Given the description of an element on the screen output the (x, y) to click on. 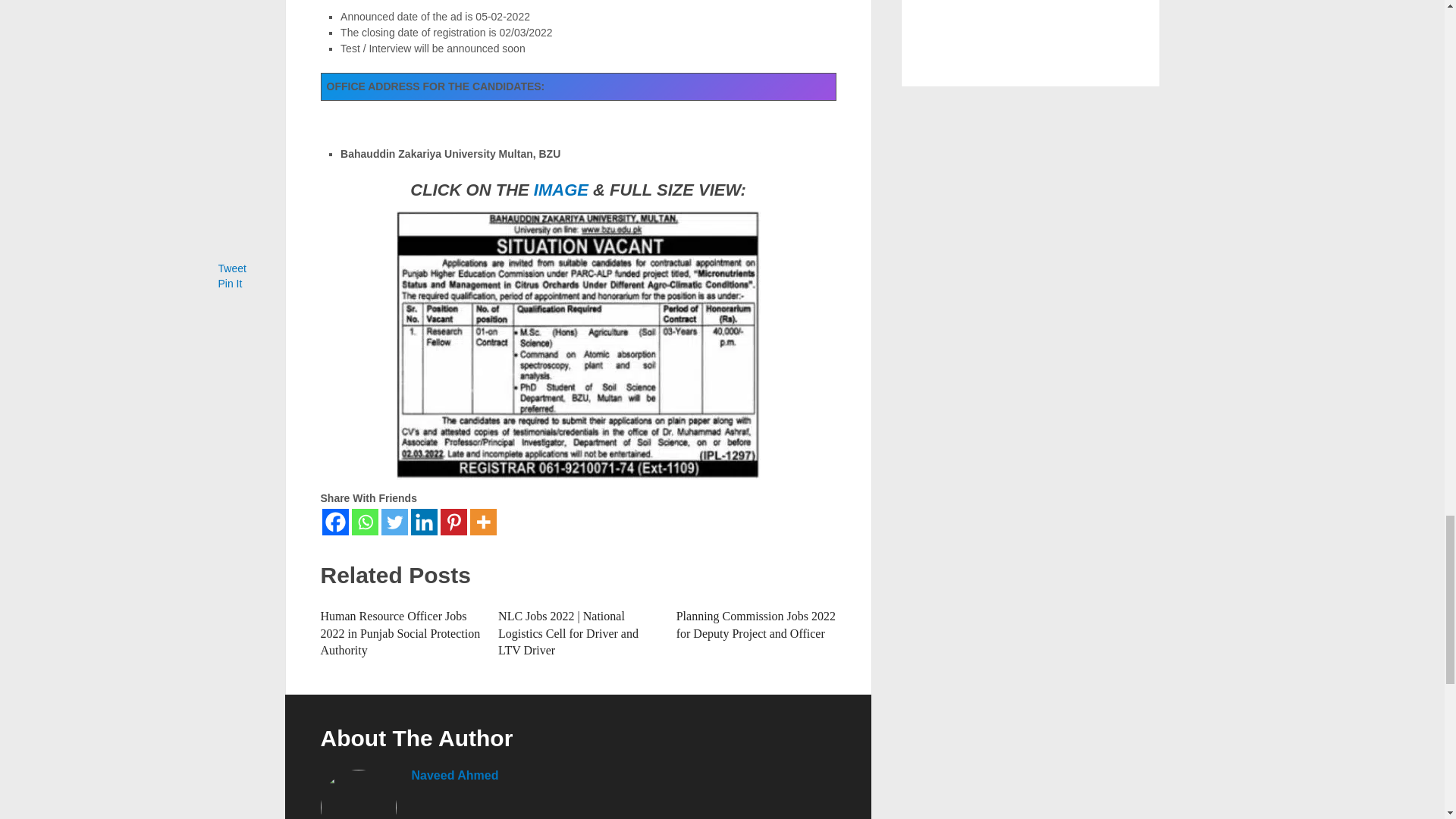
Whatsapp (365, 521)
Linkedin (424, 521)
Twitter (393, 521)
Facebook (334, 521)
